Given the description of an element on the screen output the (x, y) to click on. 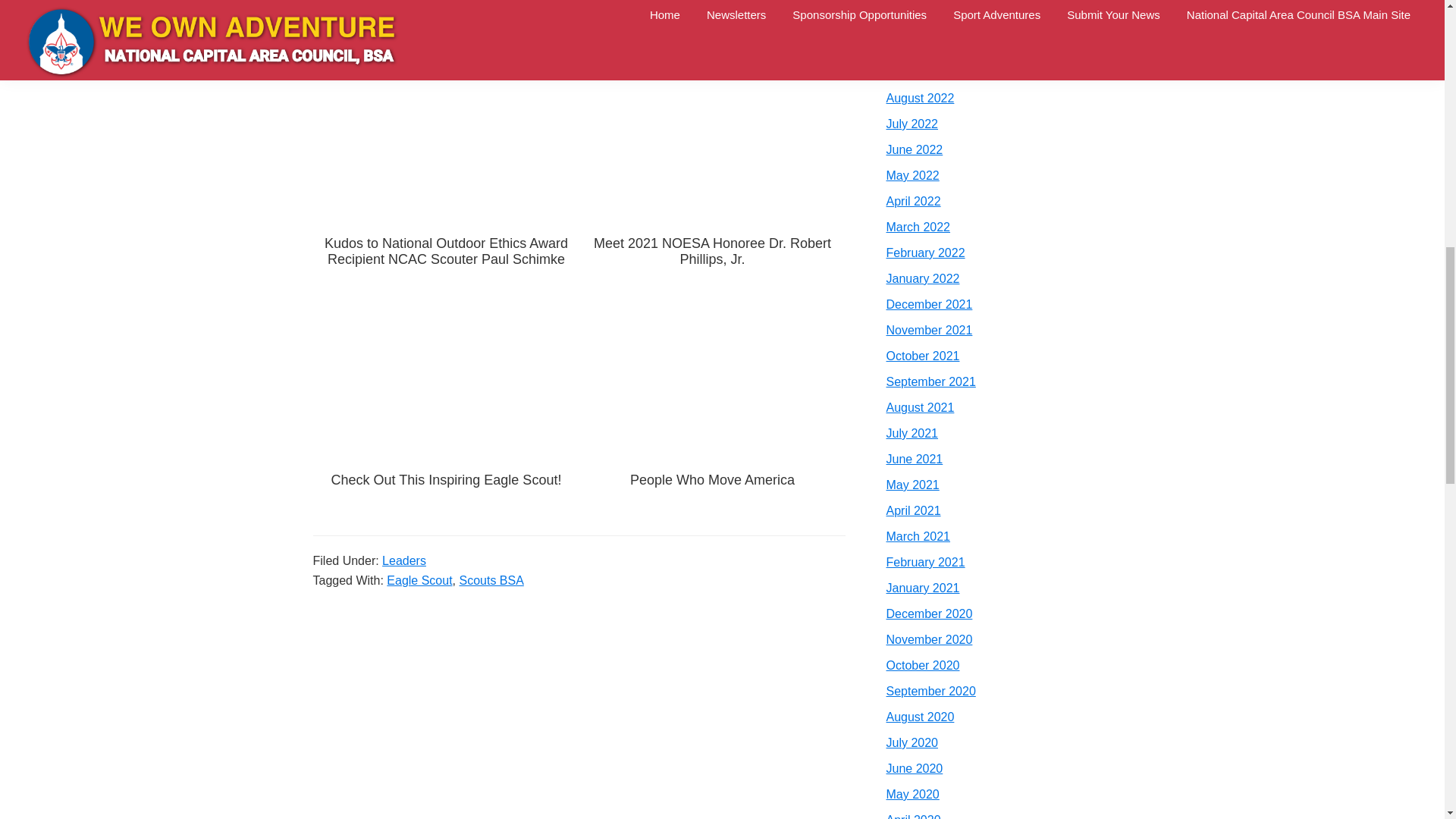
Meet 2021 NOESA Honoree Dr. Robert Phillips, Jr. (712, 178)
Eagle Scout (419, 580)
Scouts BSA (492, 580)
Check Out This Inspiring Eagle Scout! (446, 414)
People Who Move America (712, 414)
Leaders (403, 560)
